Given the description of an element on the screen output the (x, y) to click on. 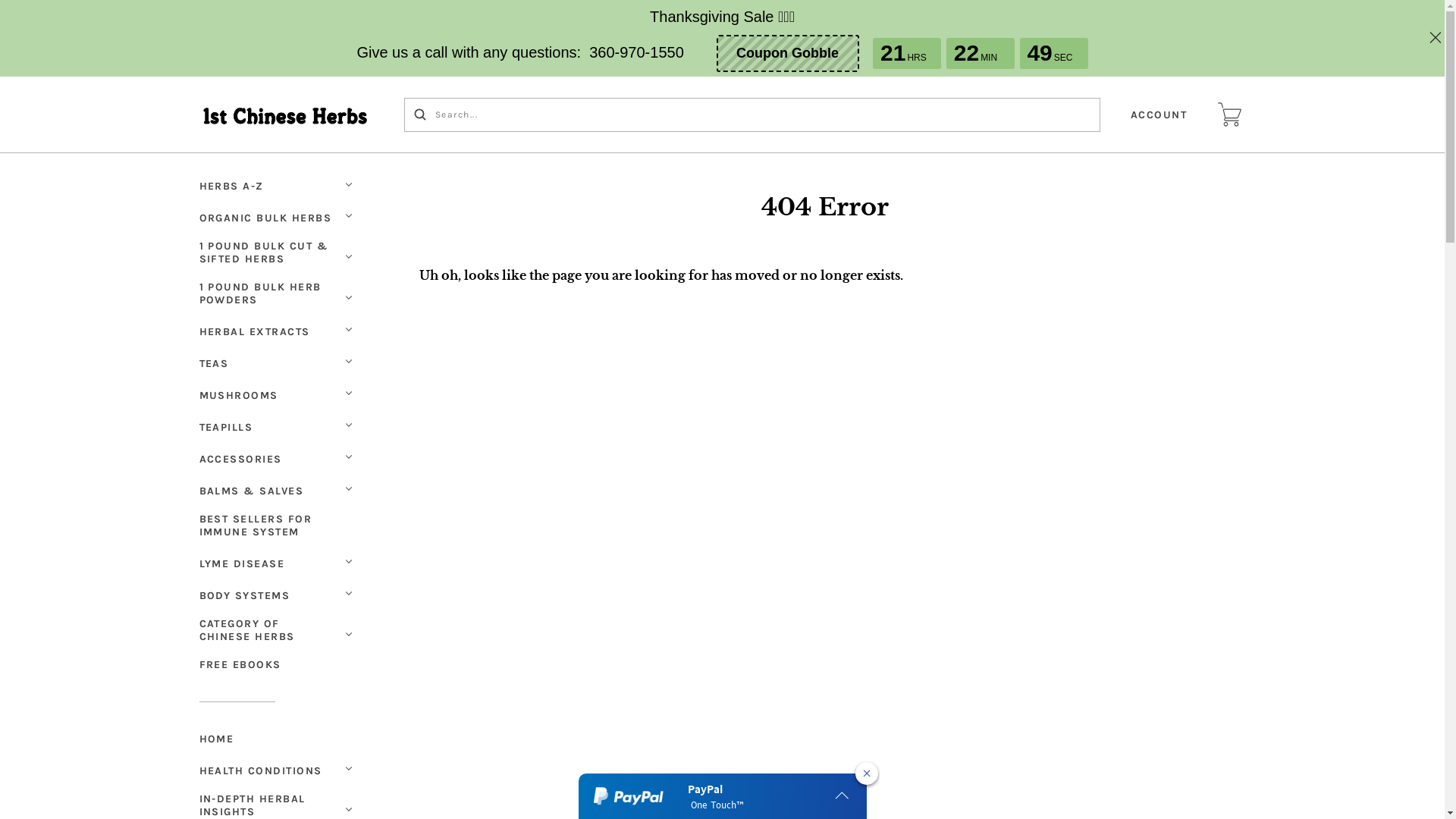
BODY SYSTEMS Element type: text (245, 595)
LYME DISEASE Element type: text (243, 563)
Search... Element type: hover (420, 113)
HOME Element type: text (277, 738)
IN-DEPTH HERBAL INSIGHTS Element type: text (268, 805)
Display submenu Element type: hover (347, 561)
BEST SELLERS FOR IMMUNE SYSTEM Element type: text (277, 525)
Display submenu Element type: hover (347, 809)
BALMS & SALVES Element type: text (252, 490)
HERBS A-Z Element type: text (232, 185)
Display submenu Element type: hover (347, 393)
Display submenu Element type: hover (347, 634)
Display submenu Element type: hover (347, 424)
TEAPILLS Element type: text (227, 426)
Display submenu Element type: hover (347, 456)
Display submenu Element type: hover (347, 183)
MUSHROOMS Element type: text (240, 395)
Display submenu Element type: hover (347, 297)
Display submenu Element type: hover (347, 361)
ACCESSORIES Element type: text (241, 458)
Open mini cart Element type: hover (1229, 114)
CATEGORY OF CHINESE HERBS Element type: text (268, 630)
HERBAL EXTRACTS Element type: text (255, 331)
Display submenu Element type: hover (347, 768)
ORGANIC BULK HERBS Element type: text (266, 217)
1 POUND BULK HERB POWDERS Element type: text (268, 293)
HEALTH CONDITIONS Element type: text (262, 770)
Display submenu Element type: hover (347, 256)
TEAS Element type: text (215, 363)
Display submenu Element type: hover (347, 488)
1 POUND BULK CUT & SIFTED HERBS Element type: text (268, 252)
Display submenu Element type: hover (347, 593)
Display submenu Element type: hover (347, 215)
ACCOUNT Element type: text (1158, 114)
FREE EBOOKS Element type: text (241, 664)
Display submenu Element type: hover (347, 329)
